Given the description of an element on the screen output the (x, y) to click on. 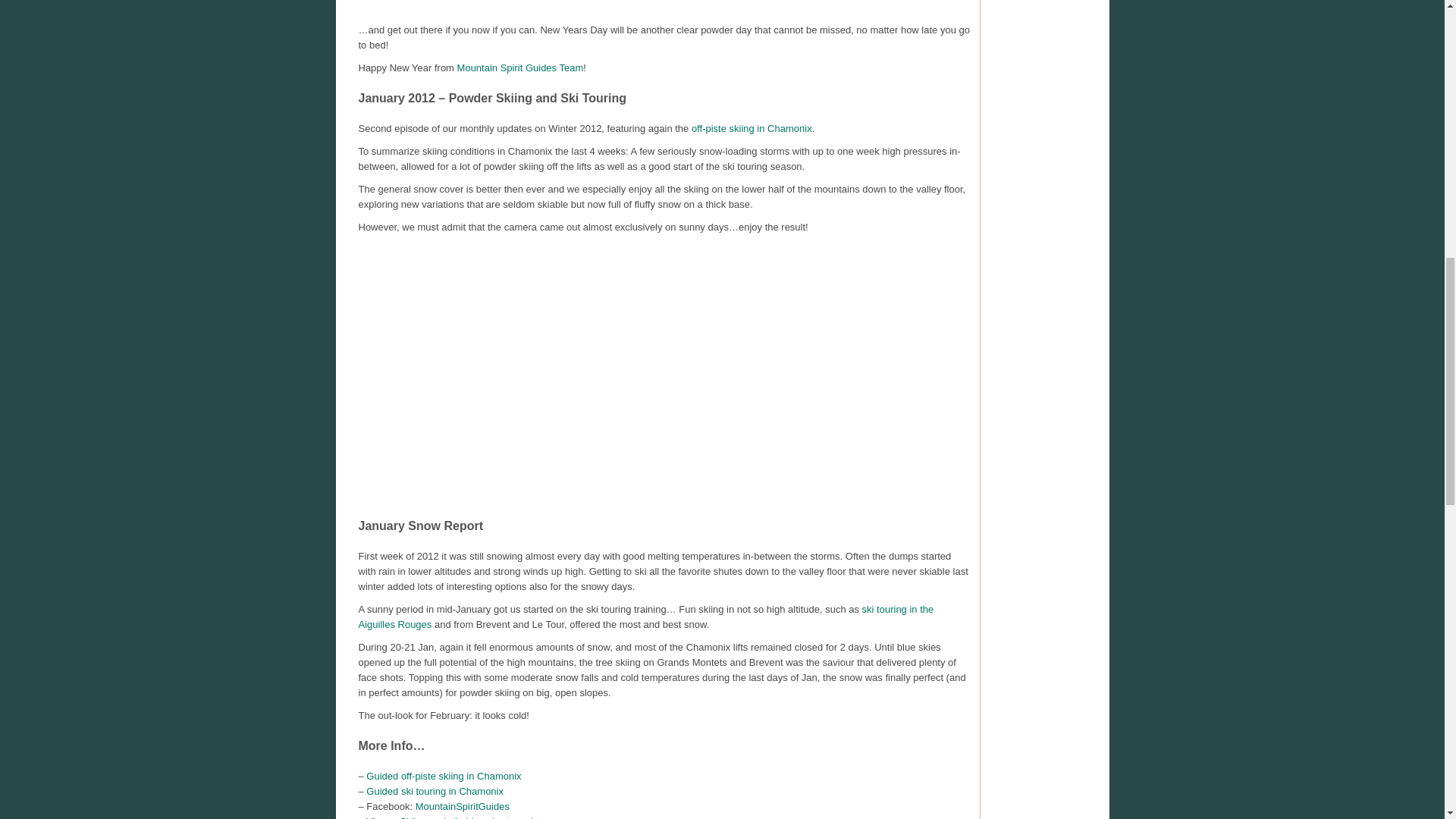
off-piste skiing in Chamonix (751, 128)
Skiing and climbing short movies (470, 817)
ski touring in the Aiguilles Rouges (645, 616)
MountainSpiritGuides (461, 806)
Guided ski touring in Chamonix (434, 790)
Guided off-piste skiing in Chamonix (443, 776)
Mountain Spirit Guides Team (520, 67)
